Given the description of an element on the screen output the (x, y) to click on. 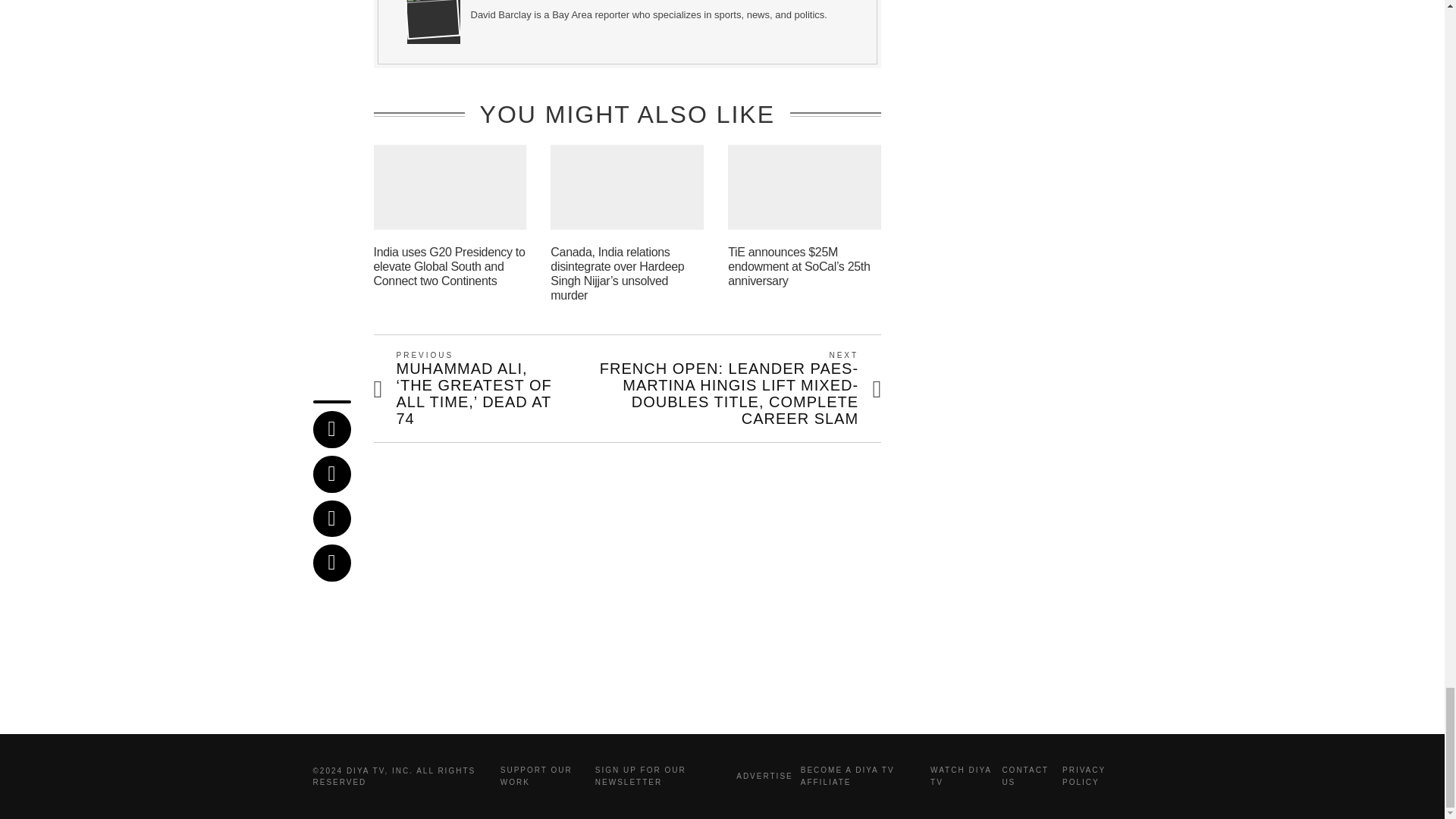
DAVID BARCLAY (540, 0)
